Given the description of an element on the screen output the (x, y) to click on. 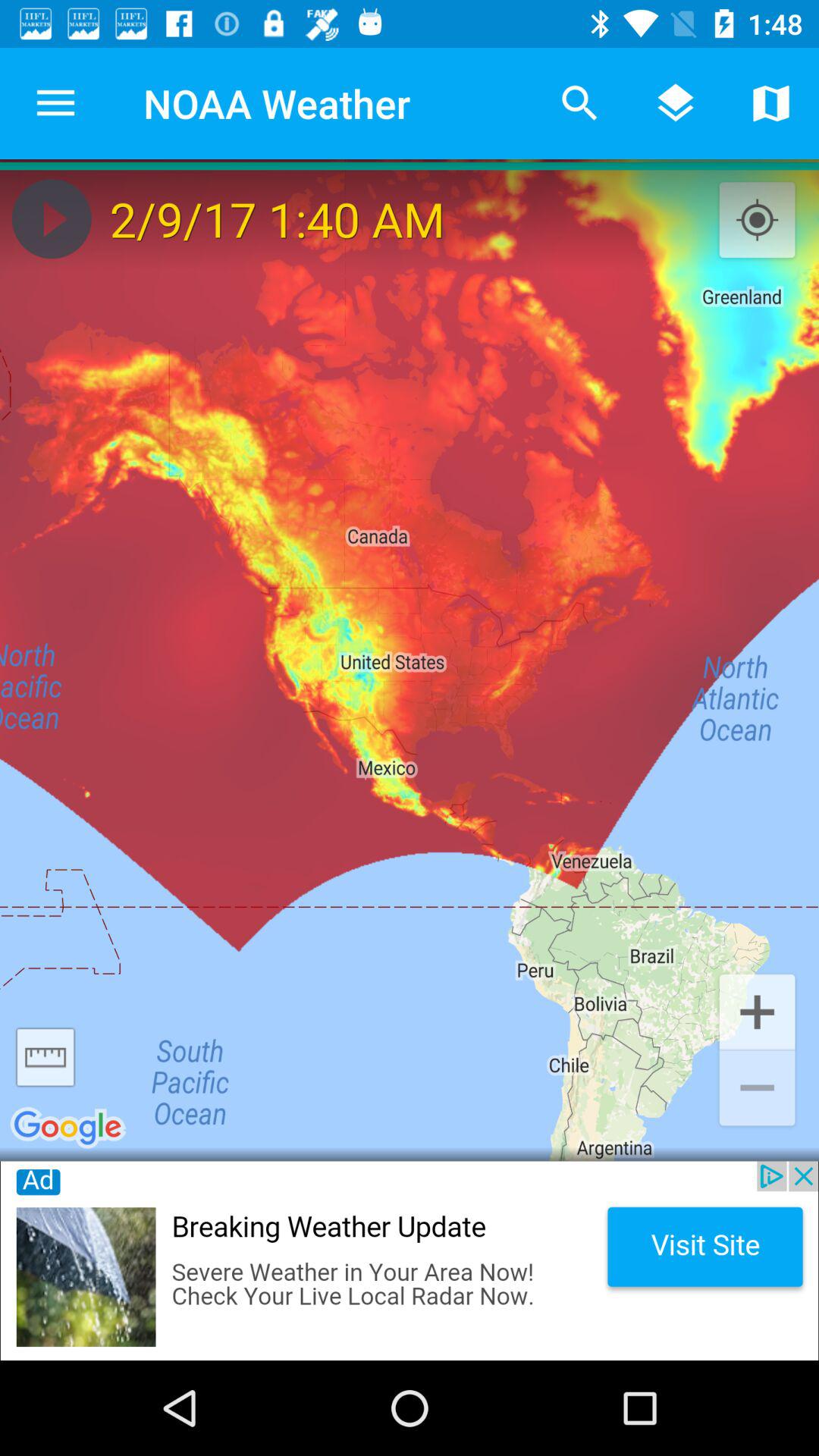
show meter (45, 1057)
